Given the description of an element on the screen output the (x, y) to click on. 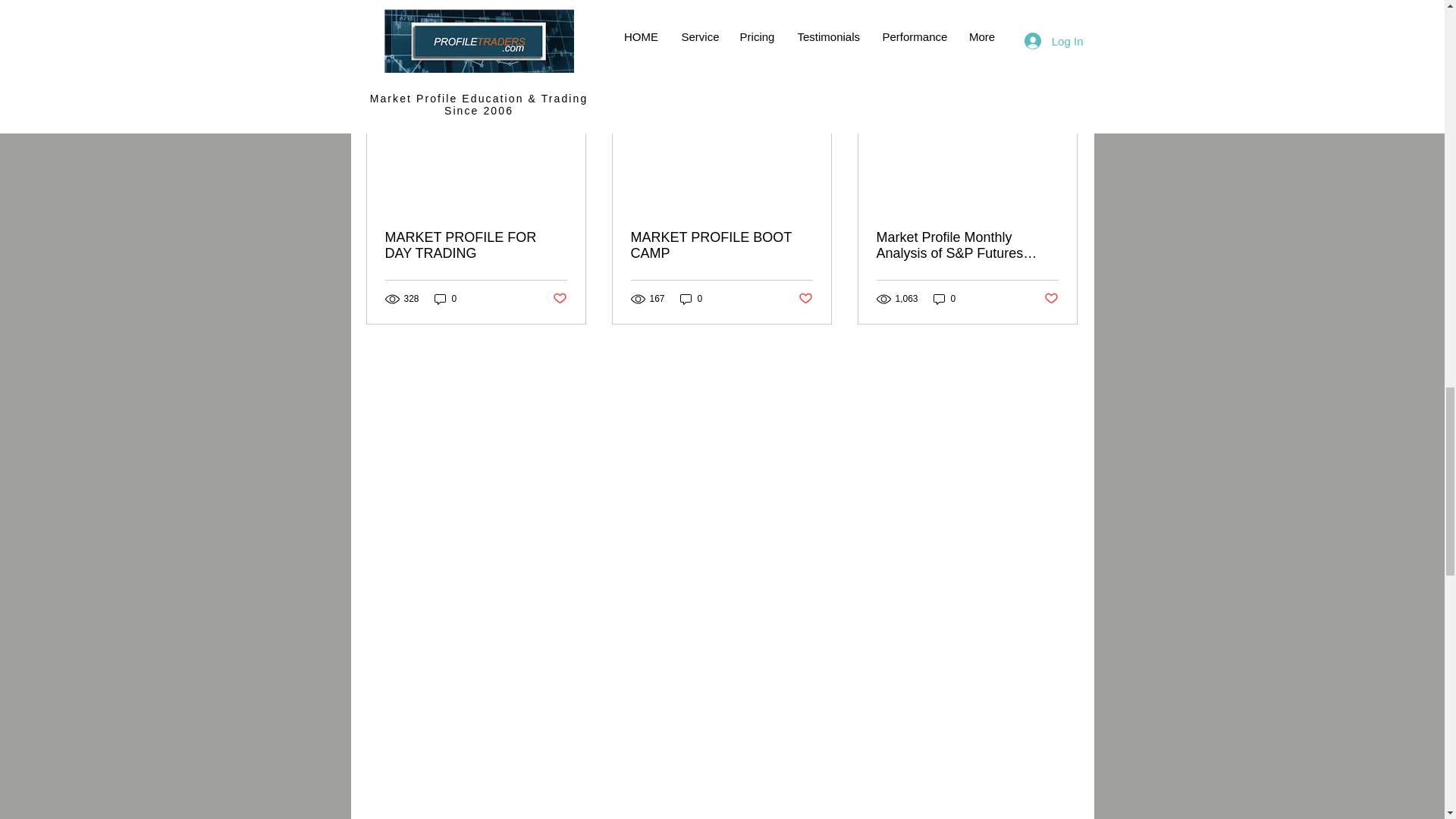
0 (944, 298)
Post not marked as liked (804, 299)
0 (445, 298)
Post not marked as liked (1050, 299)
0 (691, 298)
See All (1061, 61)
Post not marked as liked (558, 299)
MARKET PROFILE BOOT CAMP (721, 245)
MARKET PROFILE FOR DAY TRADING (476, 245)
